Given the description of an element on the screen output the (x, y) to click on. 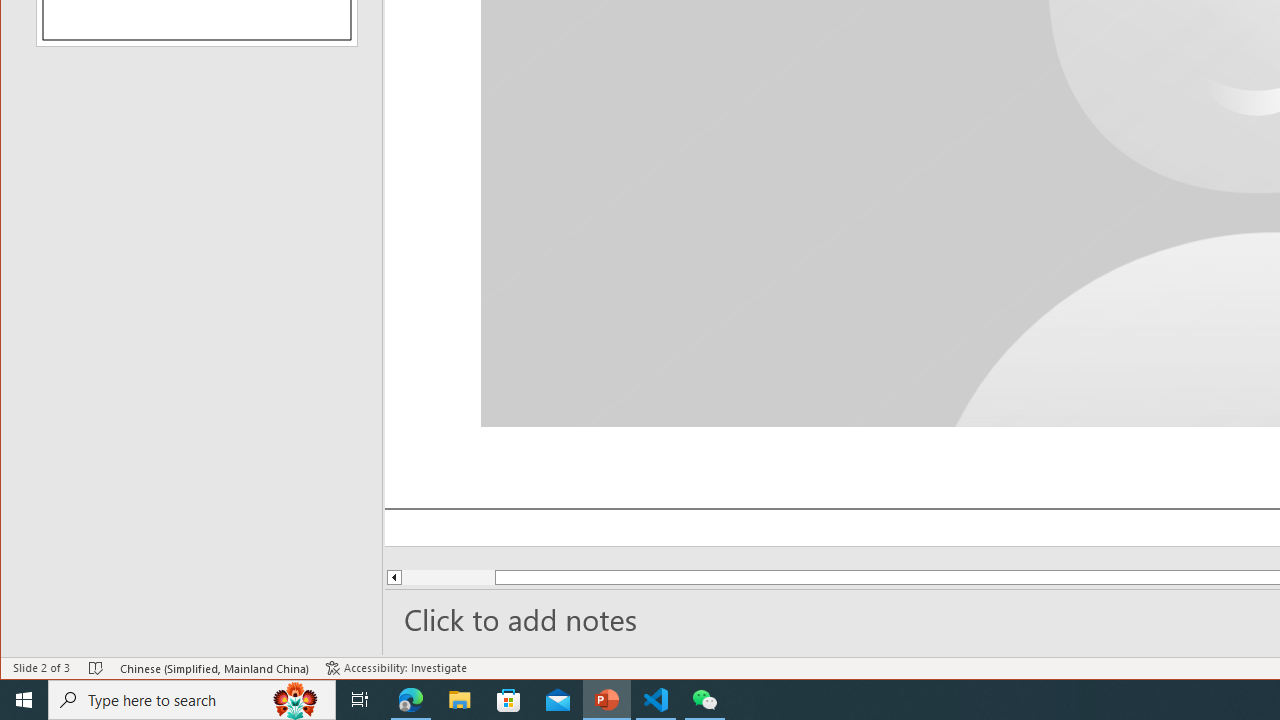
Microsoft Edge - 1 running window (411, 699)
WeChat - 1 running window (704, 699)
